Given the description of an element on the screen output the (x, y) to click on. 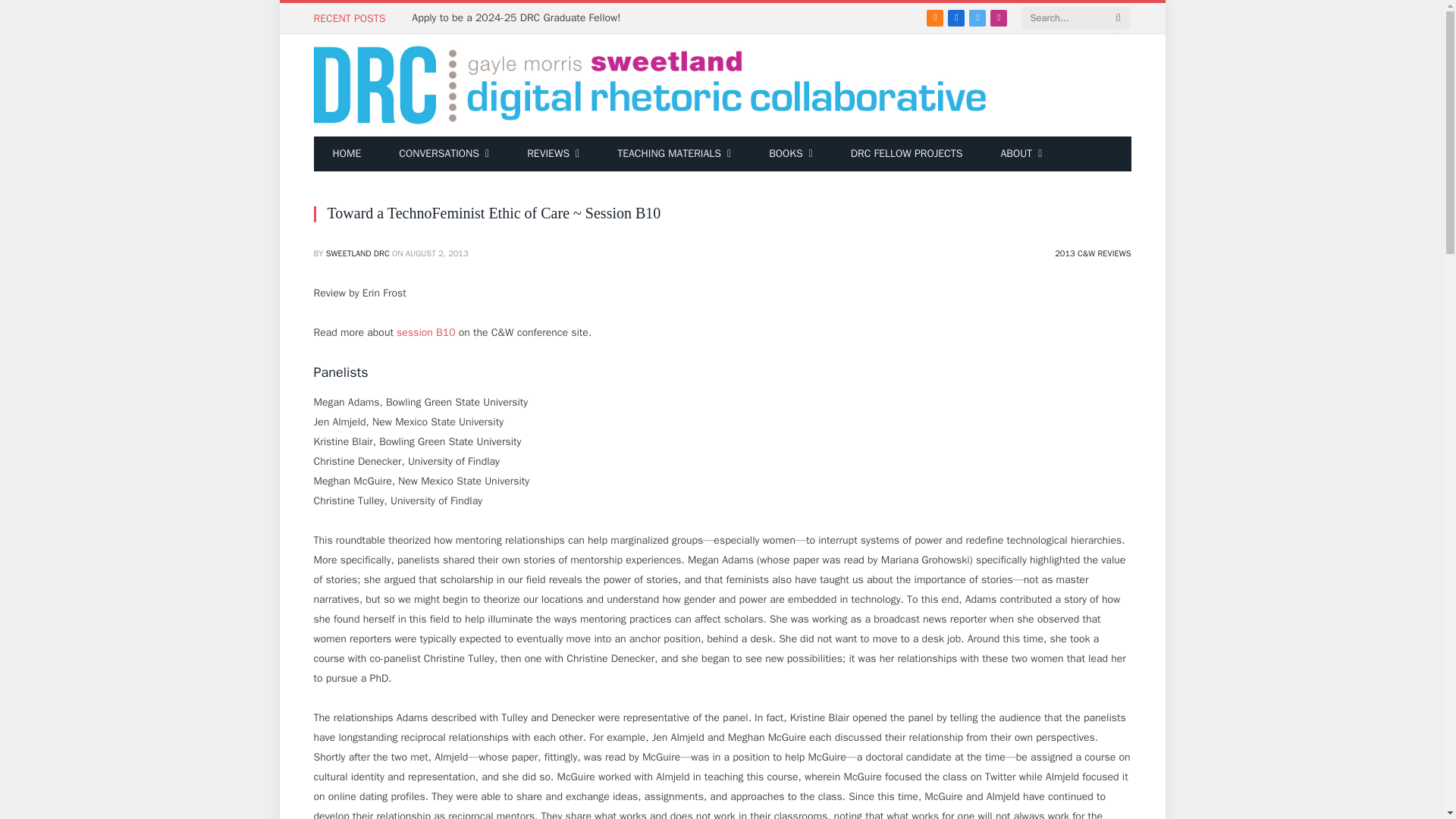
HOME (347, 153)
Digital Rhetoric Collaborative (650, 85)
Facebook (955, 17)
REVIEWS (553, 153)
RSS (934, 17)
Apply to be a 2024-25 DRC Graduate Fellow! (519, 18)
CONVERSATIONS (444, 153)
Posts by Sweetland DRC (358, 253)
Instagram (998, 17)
2013-08-02 (437, 253)
